Given the description of an element on the screen output the (x, y) to click on. 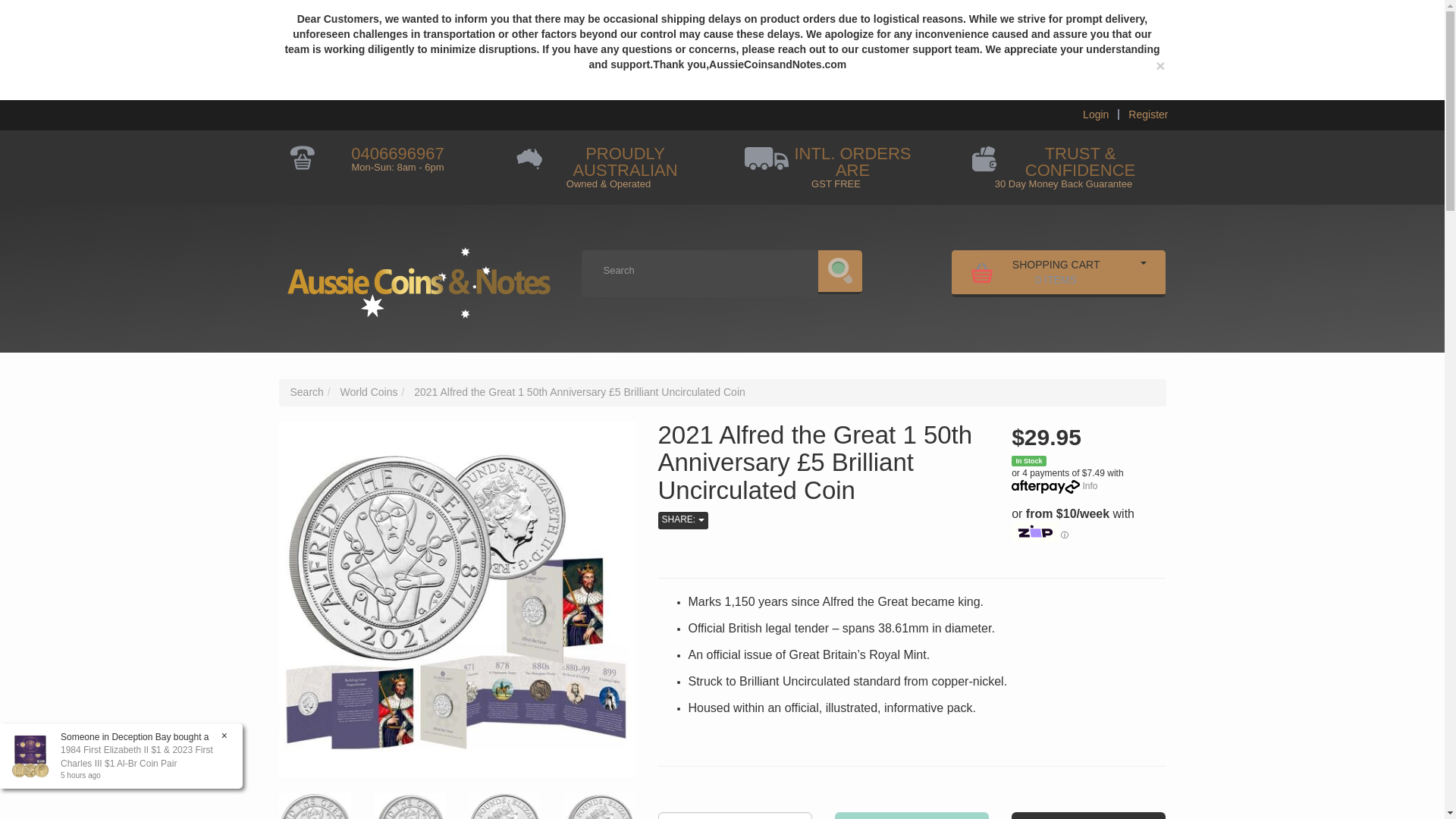
Large View (314, 806)
Login (1096, 113)
Add To Wishlist (1088, 815)
Register (1147, 113)
SEARCH (839, 272)
Large View (598, 806)
Register (1147, 113)
Aussie Coins and Notes (419, 277)
Login (1096, 113)
1 (735, 815)
Large View (1037, 272)
Large View (504, 806)
0406696967 (408, 806)
